Given the description of an element on the screen output the (x, y) to click on. 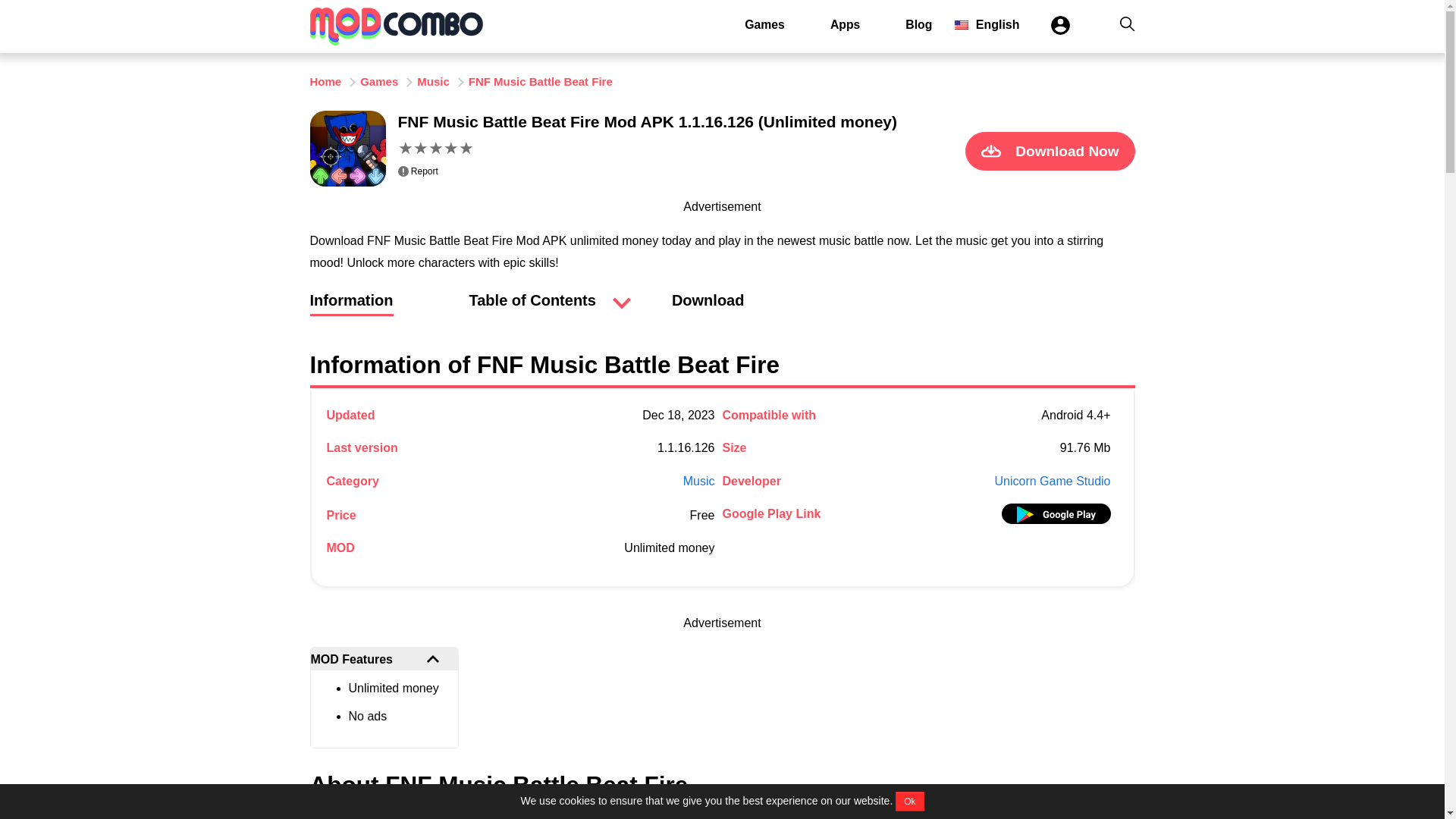
Home (324, 81)
Blog (918, 24)
Download (707, 307)
Music (432, 81)
English (987, 24)
Games (378, 81)
Music (698, 481)
Table of Contents (531, 299)
Games (765, 24)
Information (350, 307)
Apps (845, 24)
Games (765, 24)
Download Now (1049, 150)
Blog (918, 24)
Apps (845, 24)
